Given the description of an element on the screen output the (x, y) to click on. 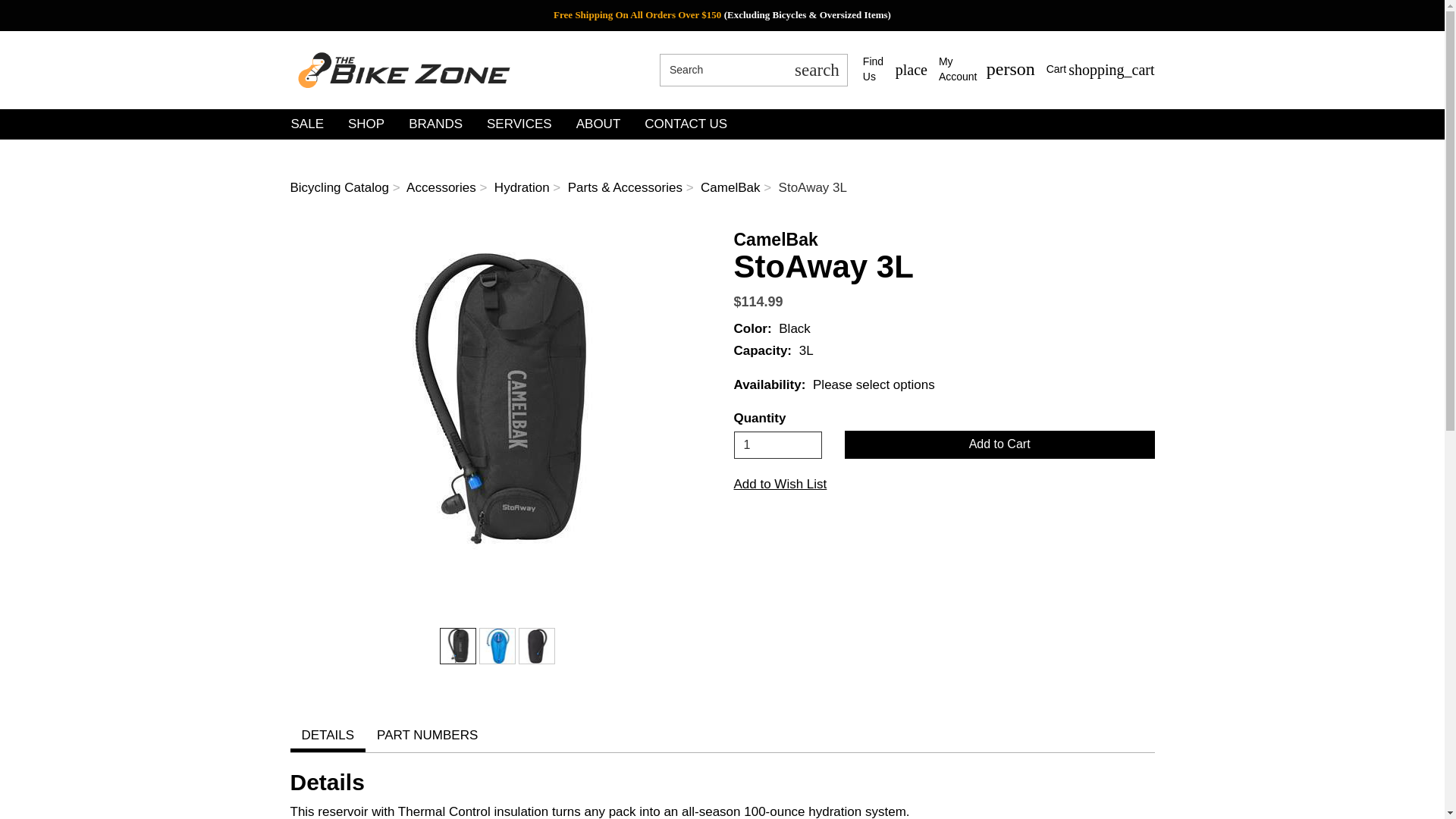
Account (895, 69)
Capacity: 3L (1100, 69)
SHOP (987, 69)
Search (987, 69)
Search (536, 645)
The Bike Zone Home Page (366, 123)
Capacity: 3L (816, 70)
Free Shipping (722, 70)
1 (402, 69)
Stores (497, 645)
Capacity: 3L (582, 14)
SALE (777, 444)
